Given the description of an element on the screen output the (x, y) to click on. 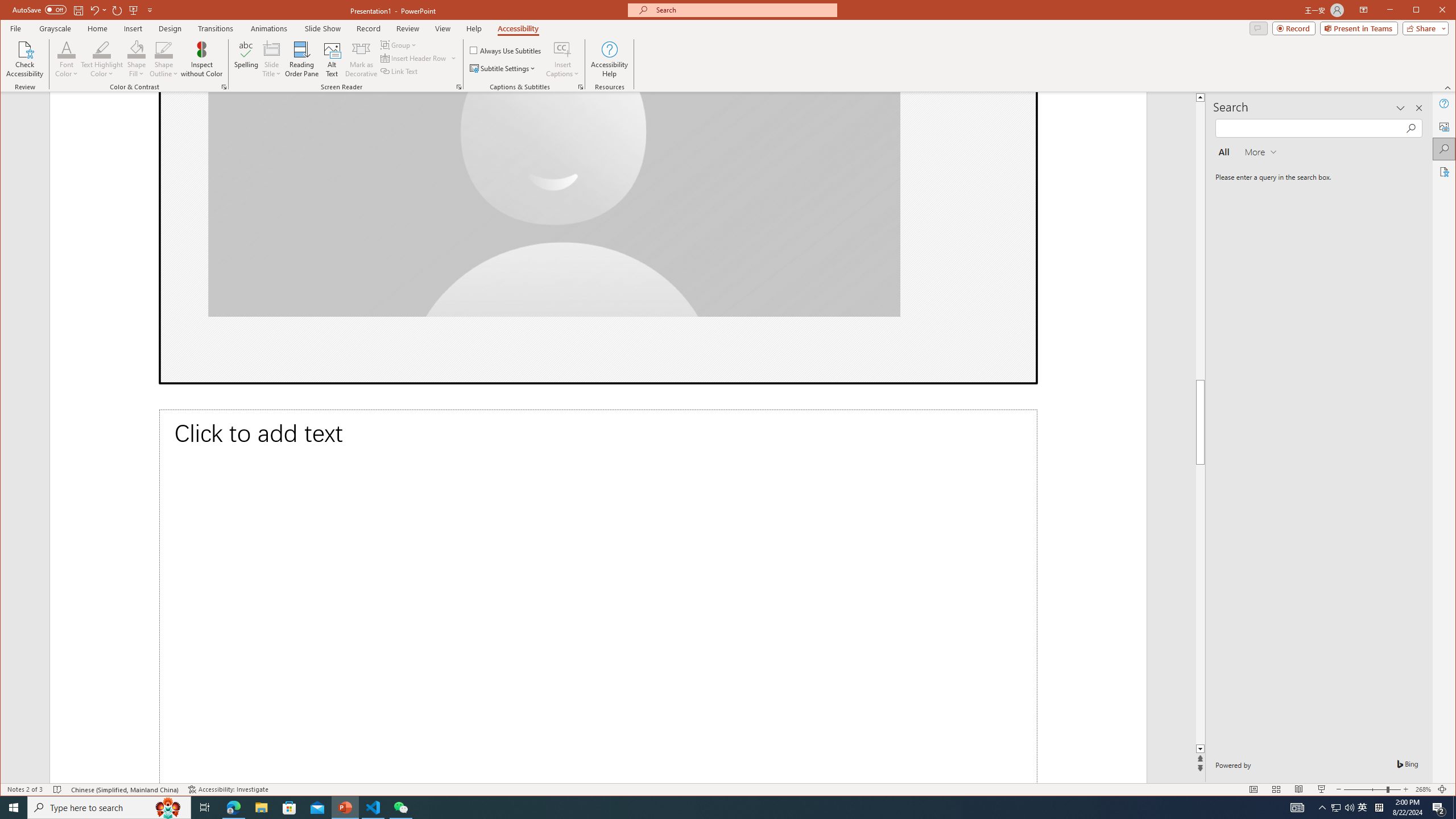
Accessibility Help (608, 59)
